Given the description of an element on the screen output the (x, y) to click on. 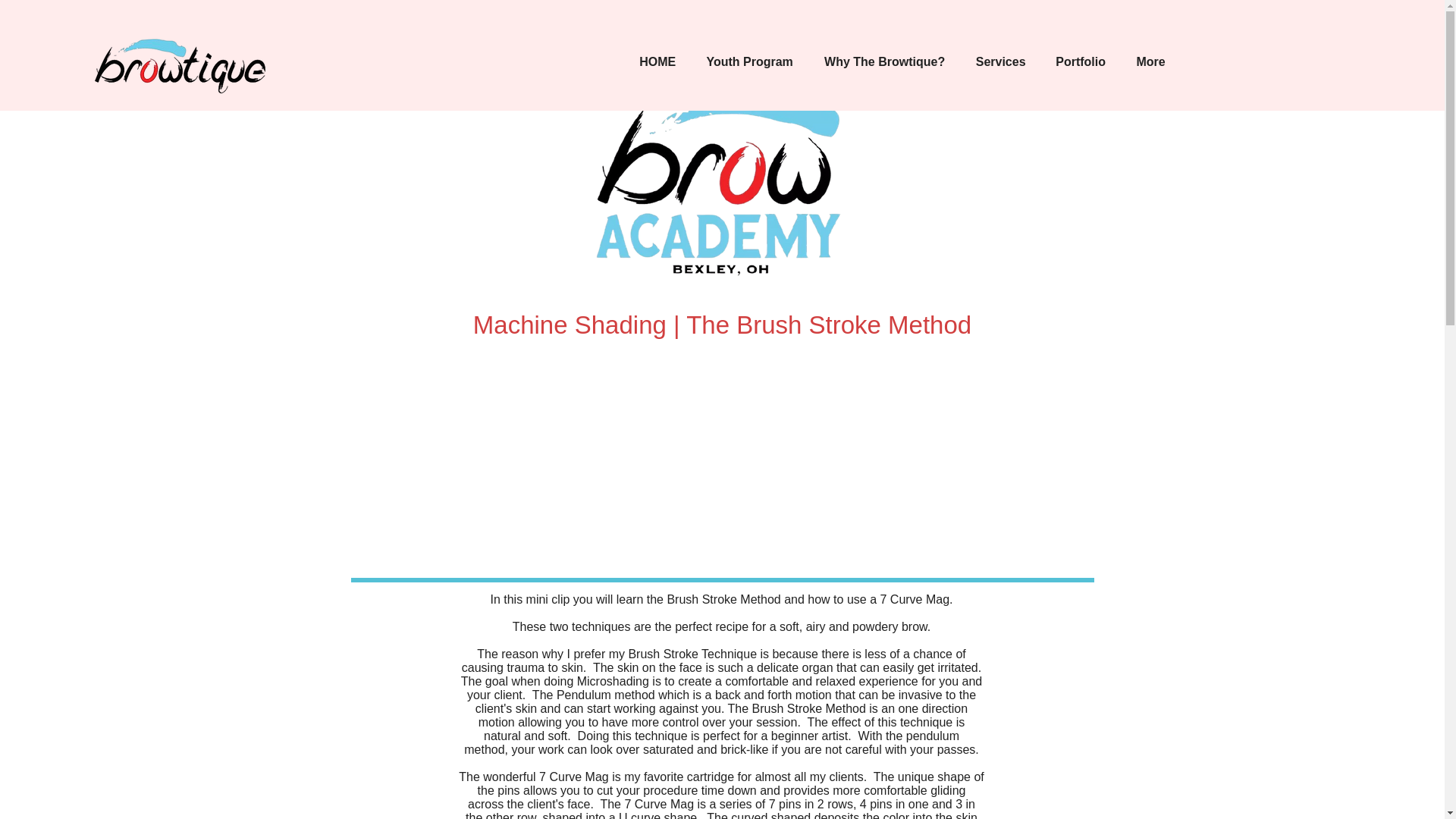
Services (1000, 62)
Why The Browtique? (884, 62)
Youth Program (749, 62)
Portfolio (1081, 62)
HOME (657, 62)
